Given the description of an element on the screen output the (x, y) to click on. 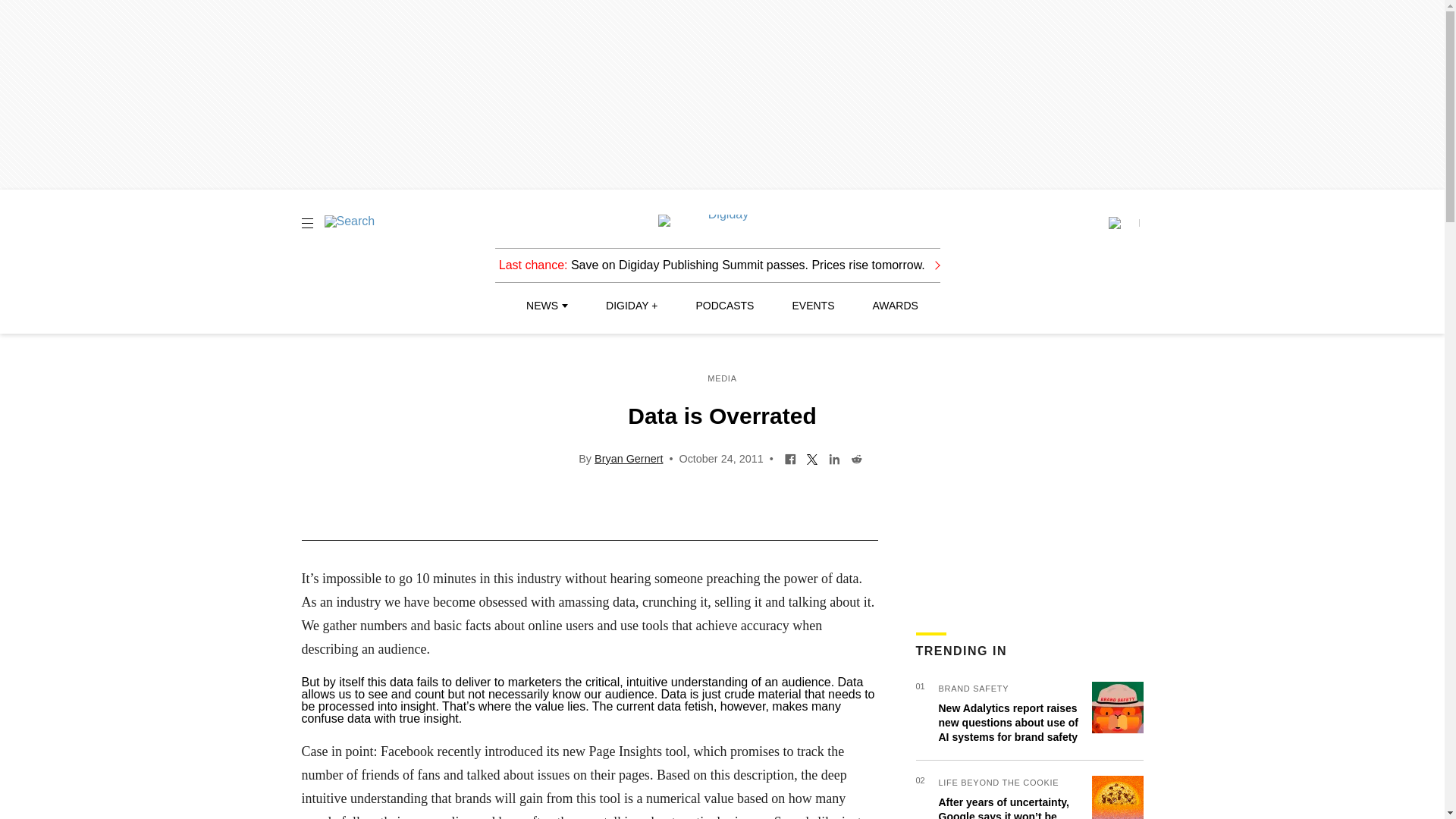
Share on Reddit (856, 458)
PODCASTS (725, 305)
Share on Twitter (812, 458)
Share on Facebook (790, 458)
NEWS (546, 305)
Share on LinkedIn (834, 458)
Subscribe (1123, 223)
EVENTS (813, 305)
